Given the description of an element on the screen output the (x, y) to click on. 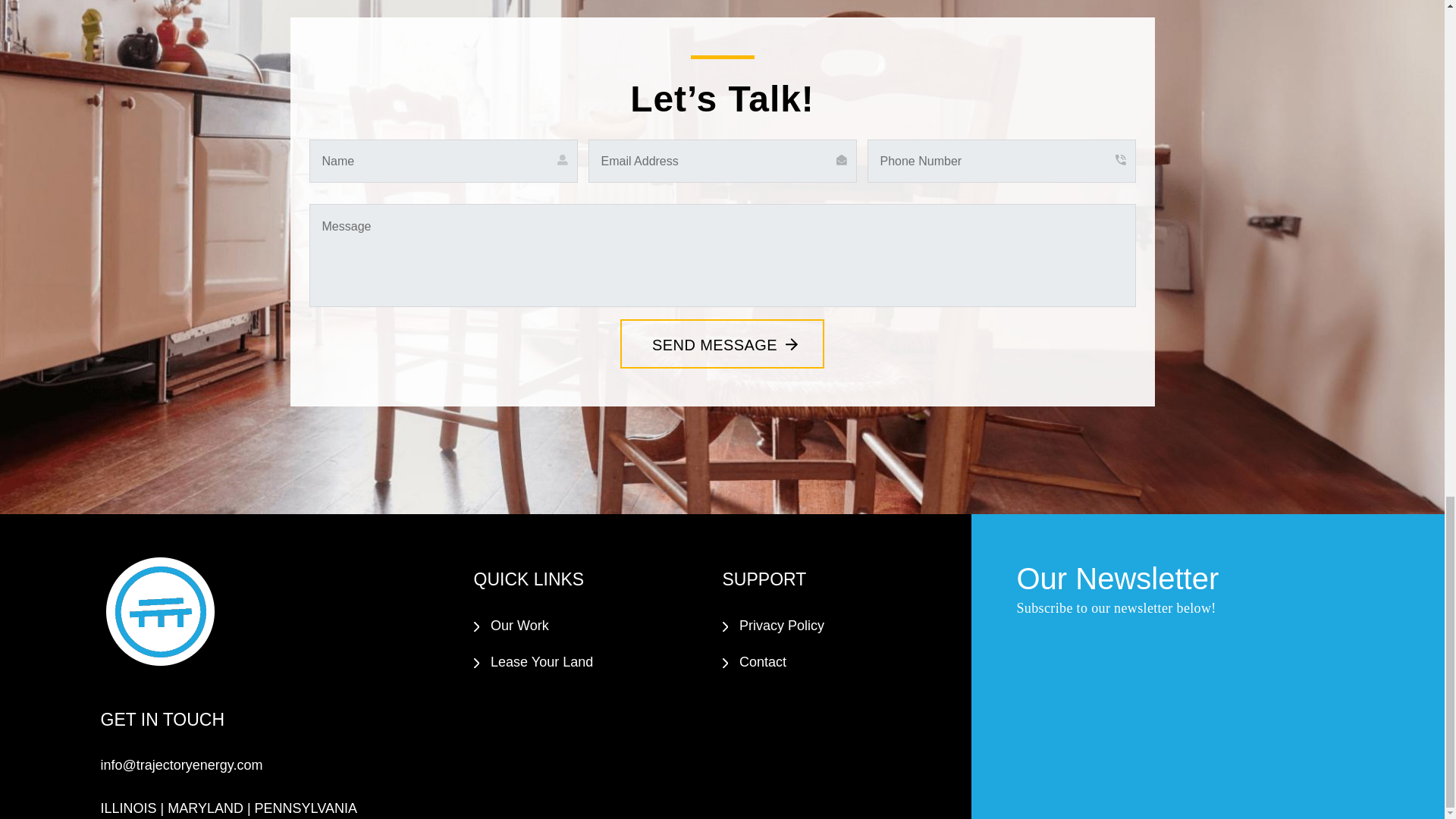
Contact (762, 661)
SEND MESSAGE (722, 343)
Our Work (519, 625)
SEND MESSAGE (722, 343)
Privacy Policy (781, 625)
Lease Your Land (541, 661)
